Given the description of an element on the screen output the (x, y) to click on. 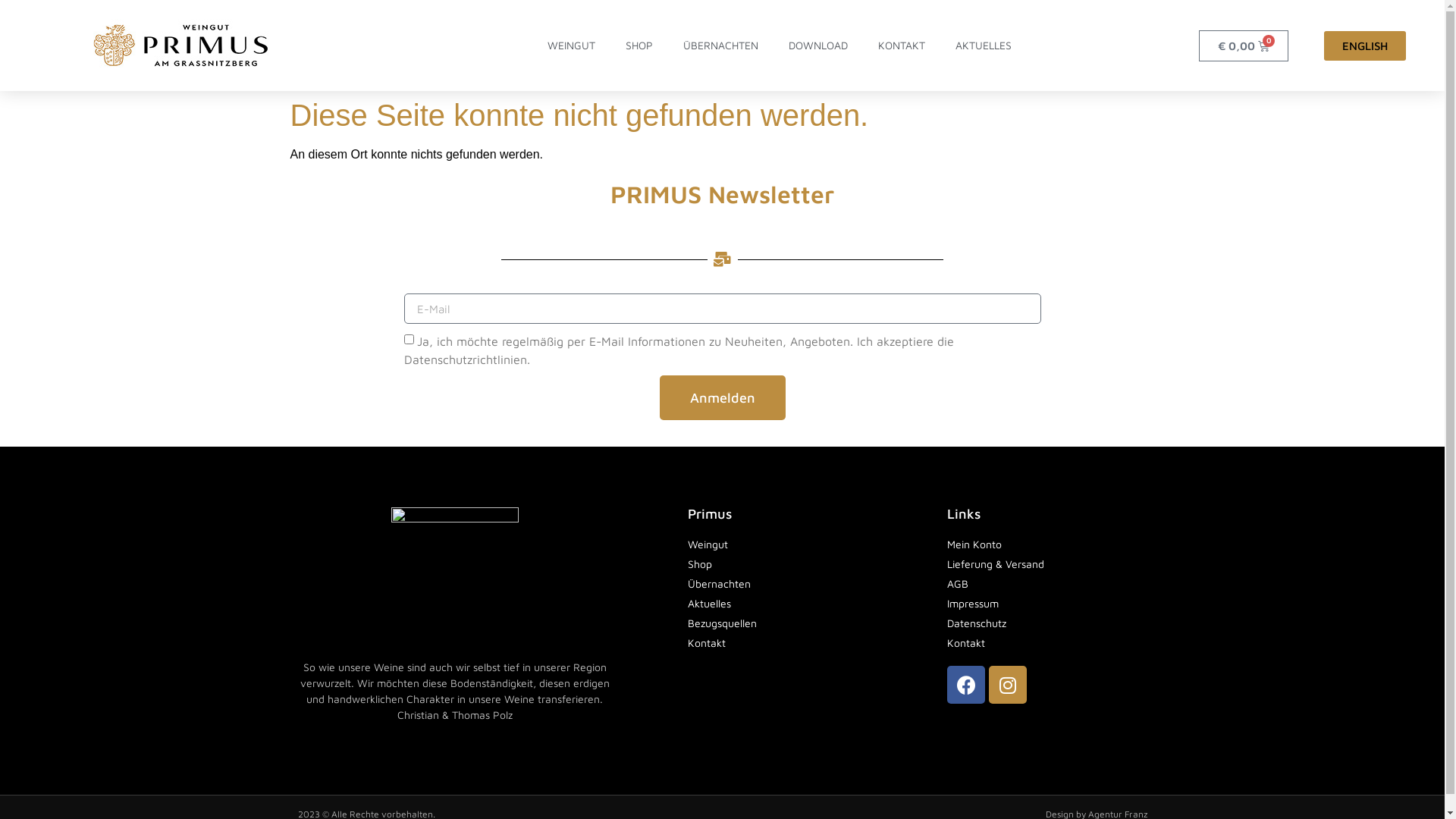
Shop Element type: text (809, 563)
Mein Konto Element type: text (1044, 544)
ENGLISH Element type: text (1364, 44)
AKTUELLES Element type: text (983, 45)
Datenschutz Element type: text (1044, 622)
KONTAKT Element type: text (901, 45)
Lieferung & Versand Element type: text (1044, 563)
AGB Element type: text (1044, 583)
Bezugsquellen Element type: text (809, 622)
Weingut Element type: text (809, 544)
DOWNLOAD Element type: text (817, 45)
Kontakt Element type: text (1044, 642)
Aktuelles Element type: text (809, 603)
Kontakt Element type: text (809, 642)
Impressum Element type: text (1044, 603)
SHOP Element type: text (639, 45)
Anmelden Element type: text (722, 397)
WEINGUT Element type: text (571, 45)
